Given the description of an element on the screen output the (x, y) to click on. 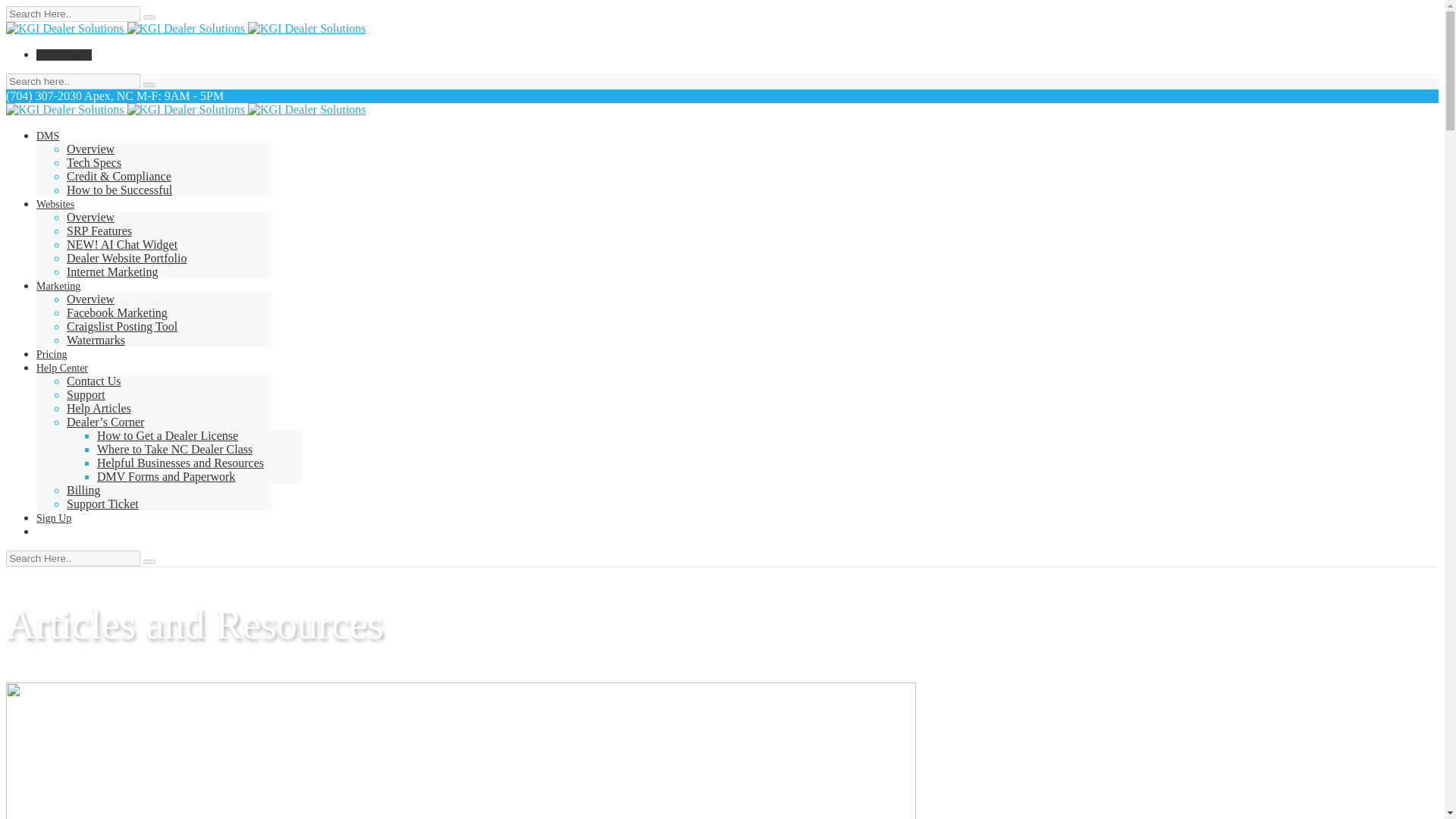
Overview (90, 148)
Overview (90, 216)
Help Articles (98, 408)
DMV Forms and Paperwork (165, 476)
Marketing (58, 285)
Watermarks (95, 339)
Billing (83, 490)
Support (85, 394)
Sign Up (53, 518)
Websites (55, 204)
SRP Features (99, 230)
Helpful Businesses and Resources (180, 462)
Contact Us (93, 380)
Tech Specs (93, 162)
Dealer Website Portfolio (126, 257)
